Given the description of an element on the screen output the (x, y) to click on. 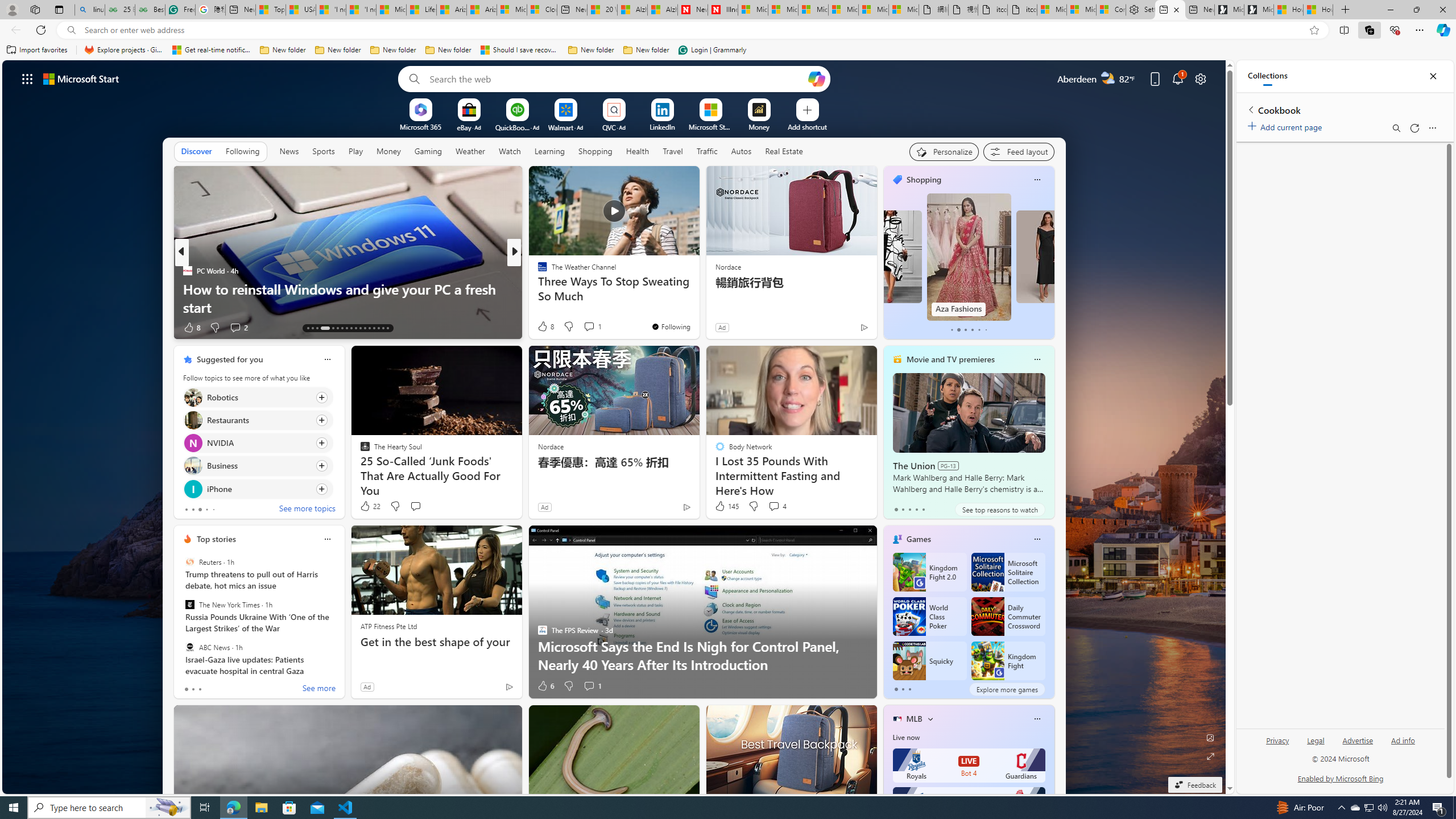
Robotics (192, 397)
tab-1 (903, 689)
View comments 65 Comment (589, 327)
AutomationID: tab-19 (342, 328)
View comments 2 Comment (234, 327)
Gaming (428, 151)
The Weirdest Sea Creatures on the Ocean Floor (697, 307)
Lifestyle - MSN (421, 9)
Ad (366, 686)
Ad Choice (508, 686)
Newsweek - News, Analysis, Politics, Business, Technology (691, 9)
